Given the description of an element on the screen output the (x, y) to click on. 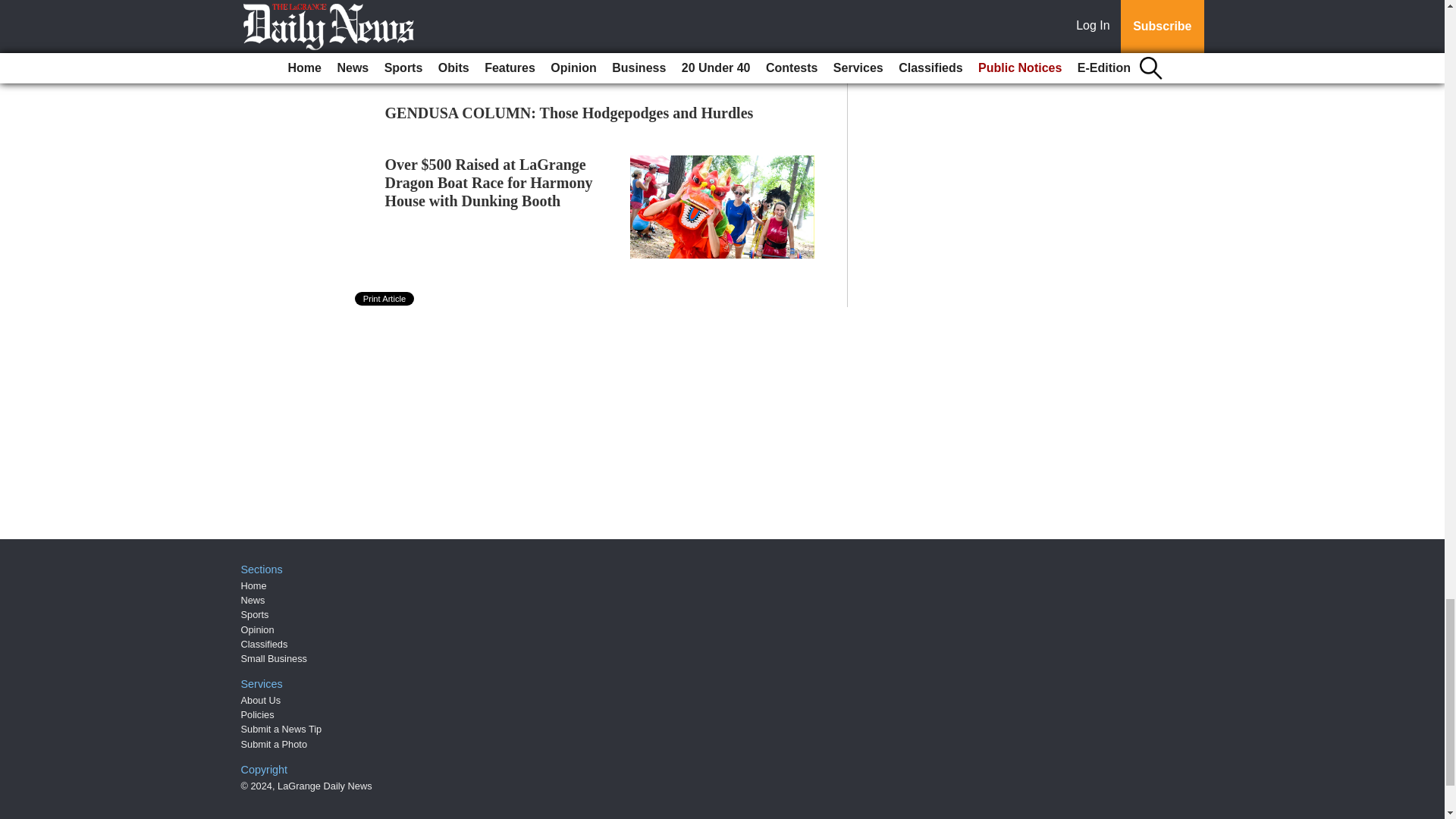
Print Article (384, 298)
Home (253, 585)
GENDUSA COLUMN: Those Hodgepodges and Hurdles (569, 112)
GENDUSA COLUMN: Those Hodgepodges and Hurdles (569, 112)
